Given the description of an element on the screen output the (x, y) to click on. 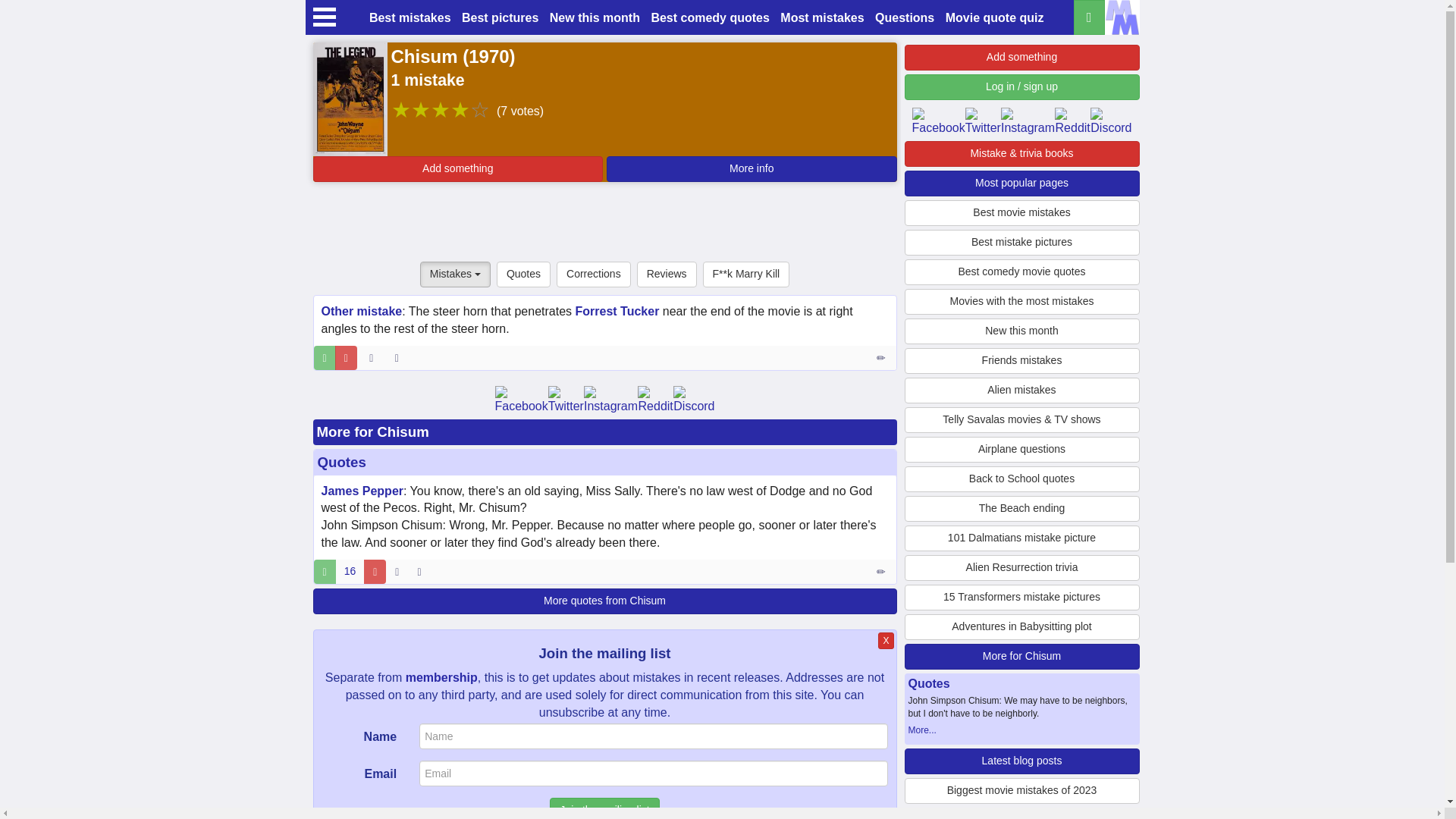
Entry 285564 (881, 571)
I dislike this (374, 571)
I dislike this (345, 357)
Entry 201815 (881, 357)
I like this (325, 357)
I like this (325, 571)
Share this entry (421, 571)
ID 201815: 6th May 2014 (370, 357)
ID 285564: 1st January 2000 (396, 571)
Share this entry (399, 357)
